Given the description of an element on the screen output the (x, y) to click on. 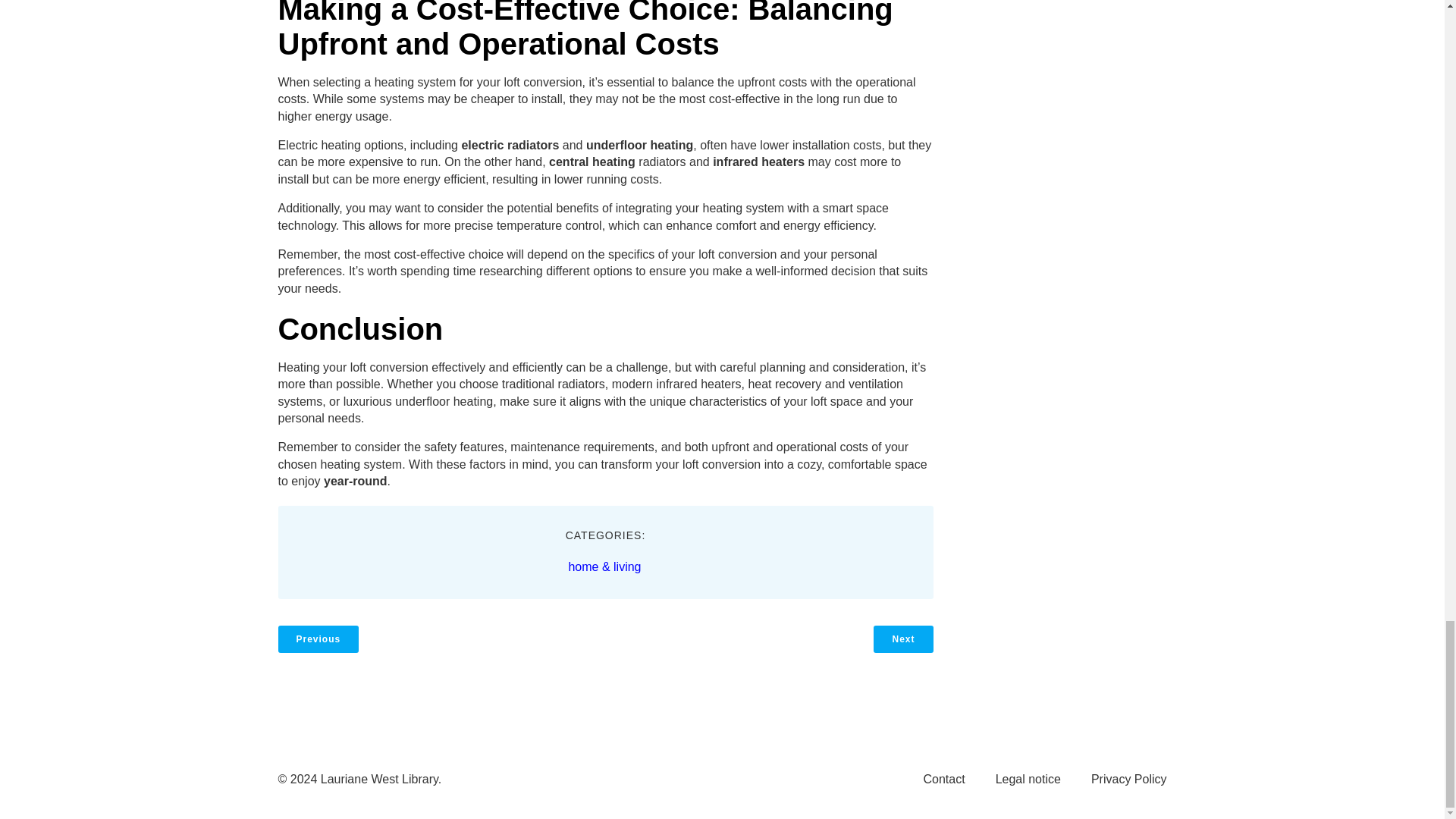
Next (903, 638)
Previous (318, 638)
